Given the description of an element on the screen output the (x, y) to click on. 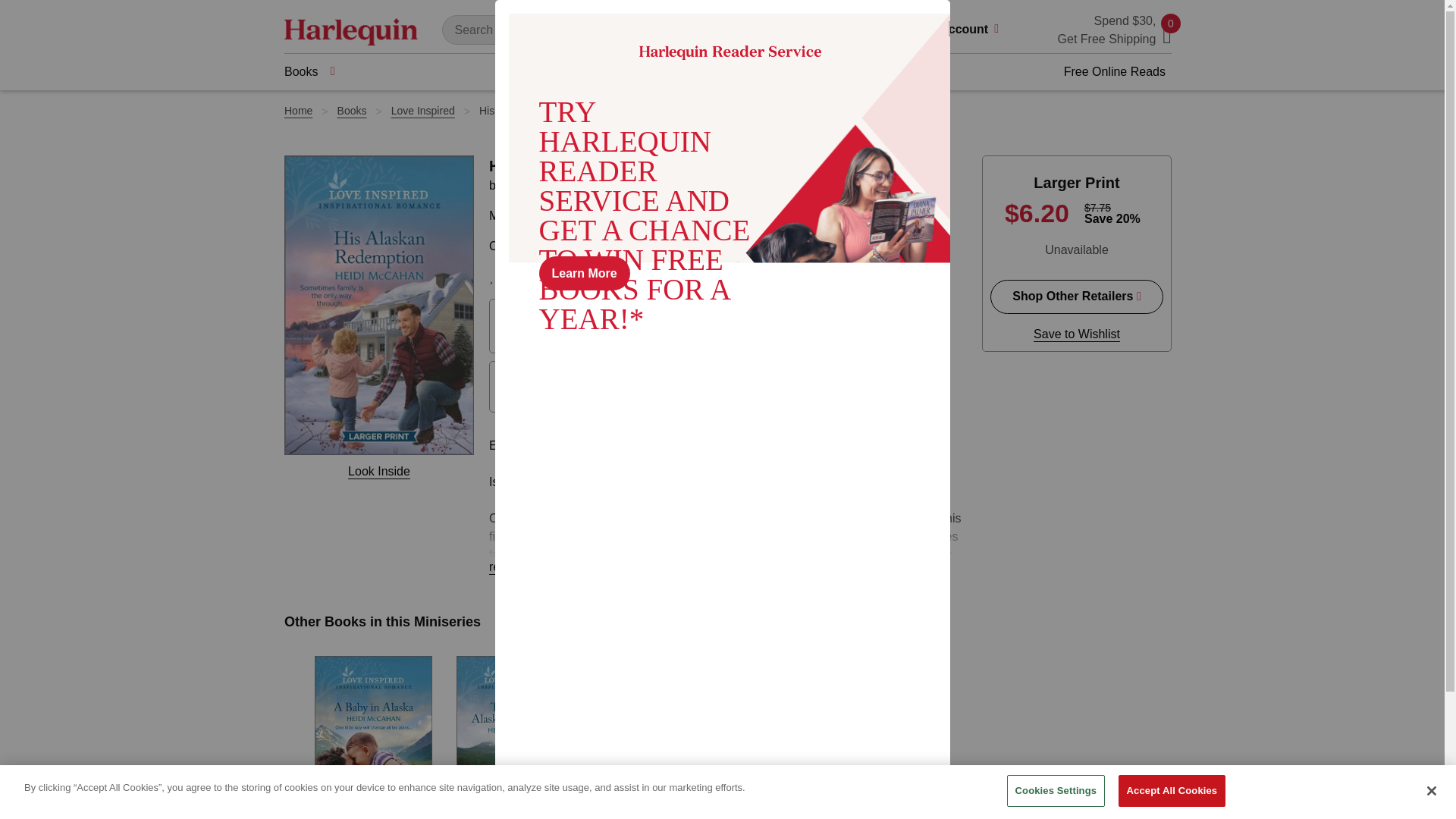
Account (974, 30)
Search for other content by Heidi McCahan (546, 185)
Books (308, 72)
See ratings and reviews (520, 276)
See all reviews on Goodreads (708, 277)
Harlequin home (350, 30)
